Given the description of an element on the screen output the (x, y) to click on. 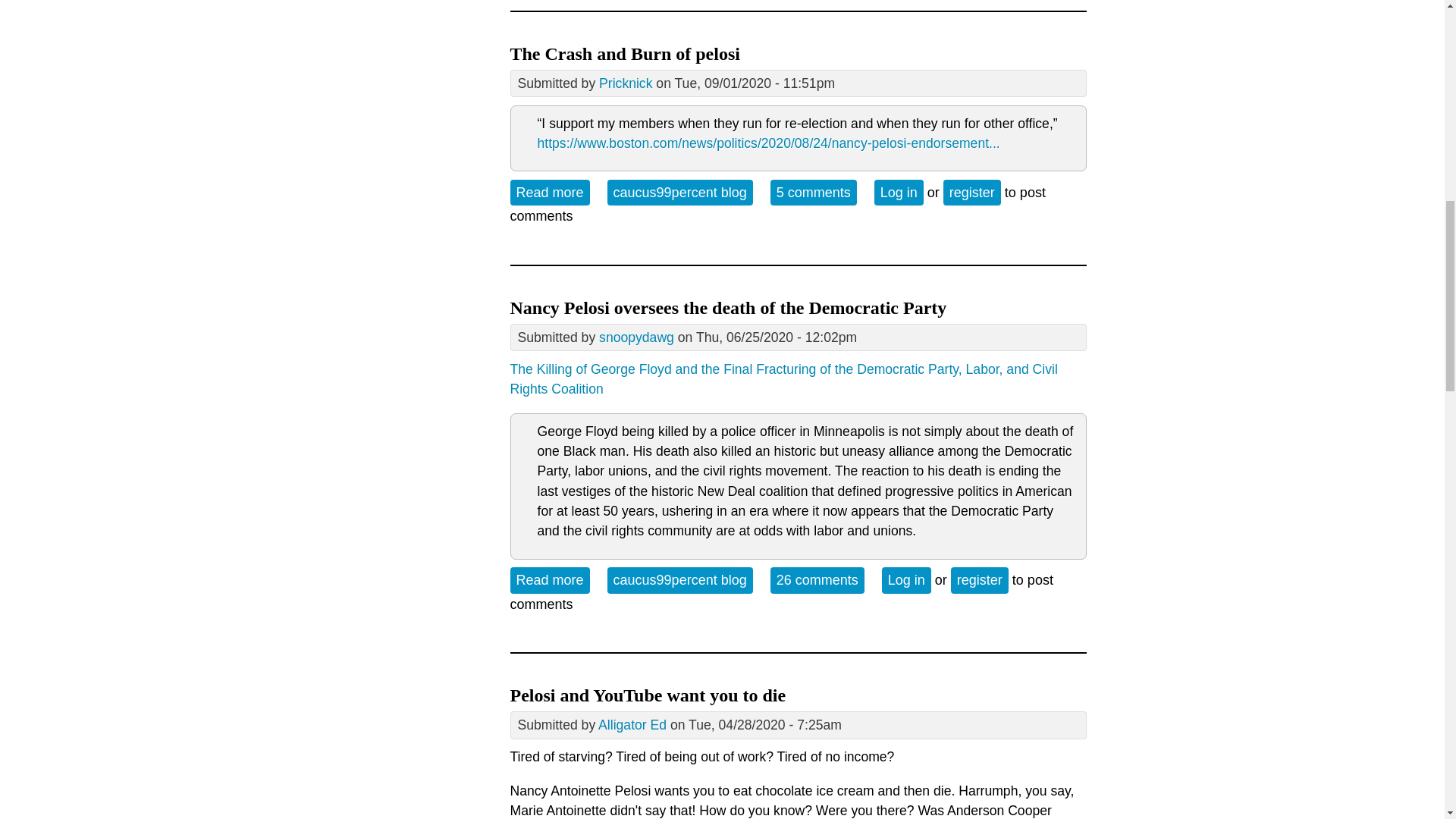
caucus99percent blog (679, 579)
register (979, 579)
5 comments (549, 192)
caucus99percent blog (813, 192)
Read the latest caucus99percent blog entries. (679, 192)
Log in (679, 192)
26 comments (906, 579)
register (817, 579)
